Given the description of an element on the screen output the (x, y) to click on. 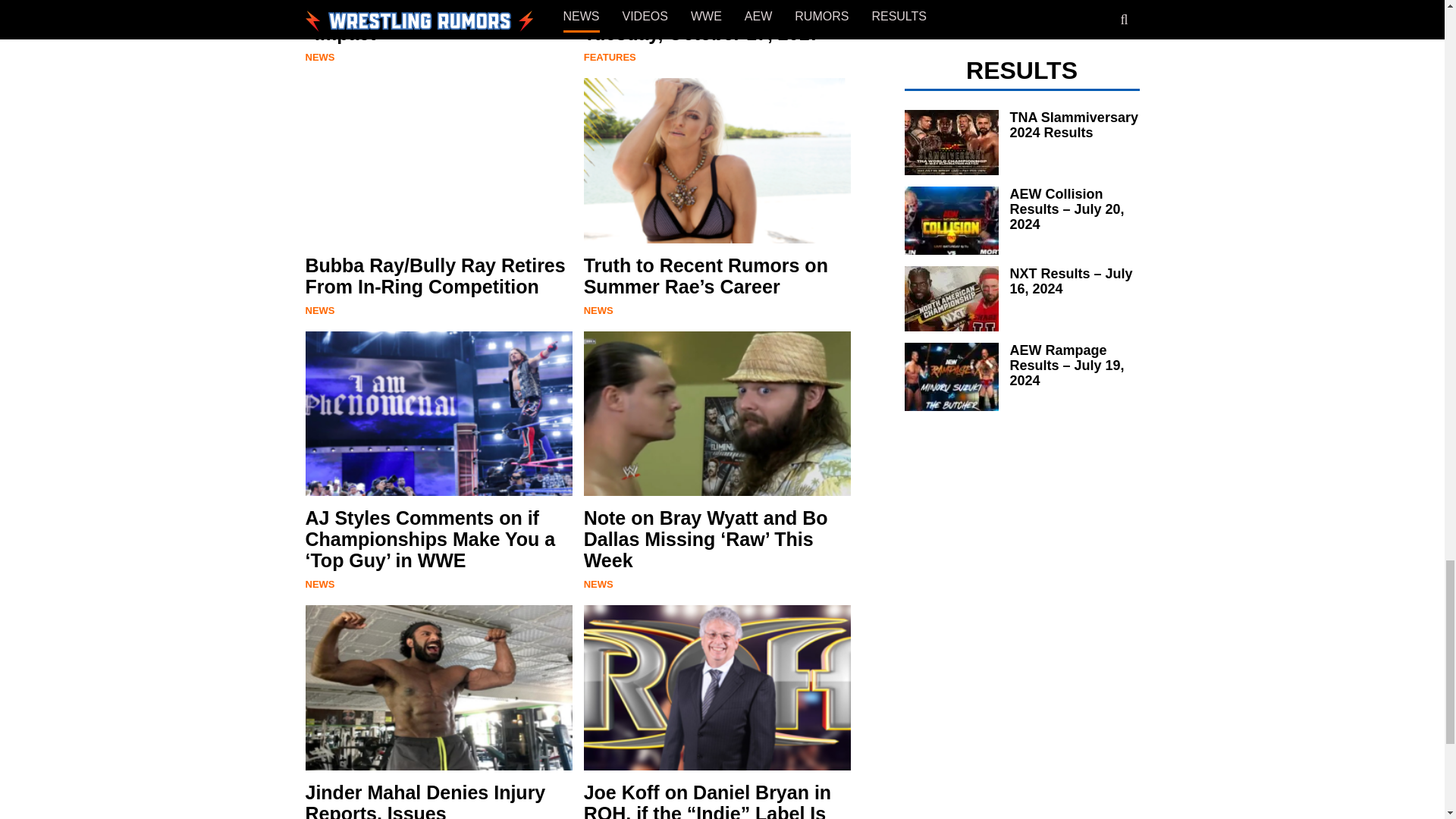
Features (609, 57)
News (597, 310)
NEWS (319, 57)
News (319, 583)
News (319, 57)
News (319, 310)
FEATURES (609, 57)
News (597, 583)
